Given the description of an element on the screen output the (x, y) to click on. 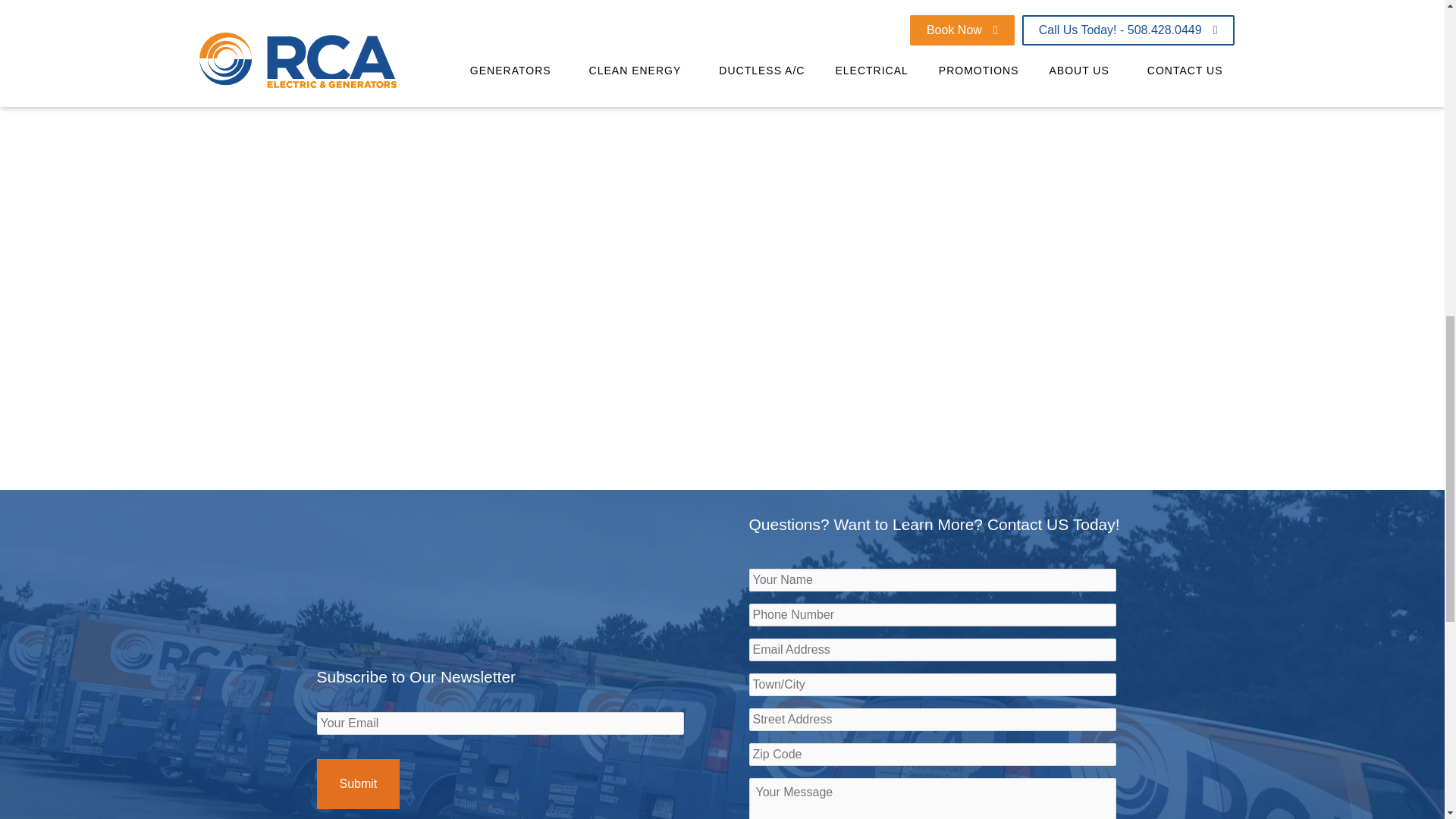
Submit (358, 784)
